Given the description of an element on the screen output the (x, y) to click on. 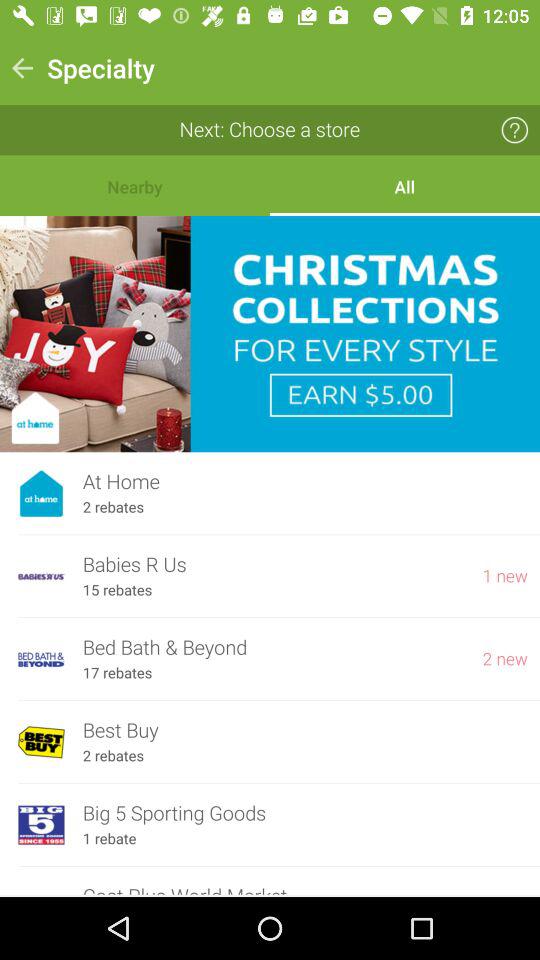
swipe to babies r us icon (273, 564)
